Given the description of an element on the screen output the (x, y) to click on. 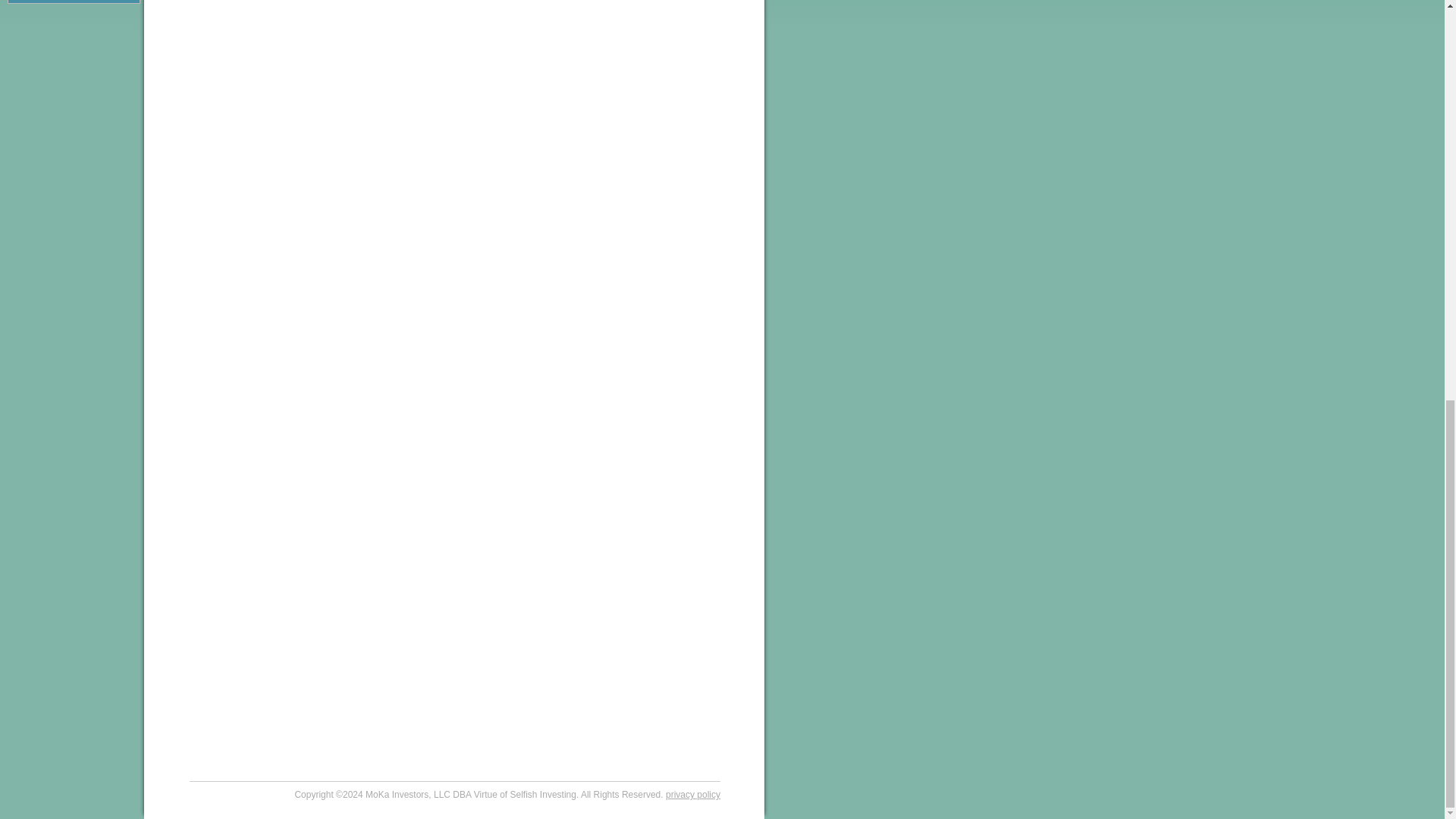
privacy policy (692, 794)
